Given the description of an element on the screen output the (x, y) to click on. 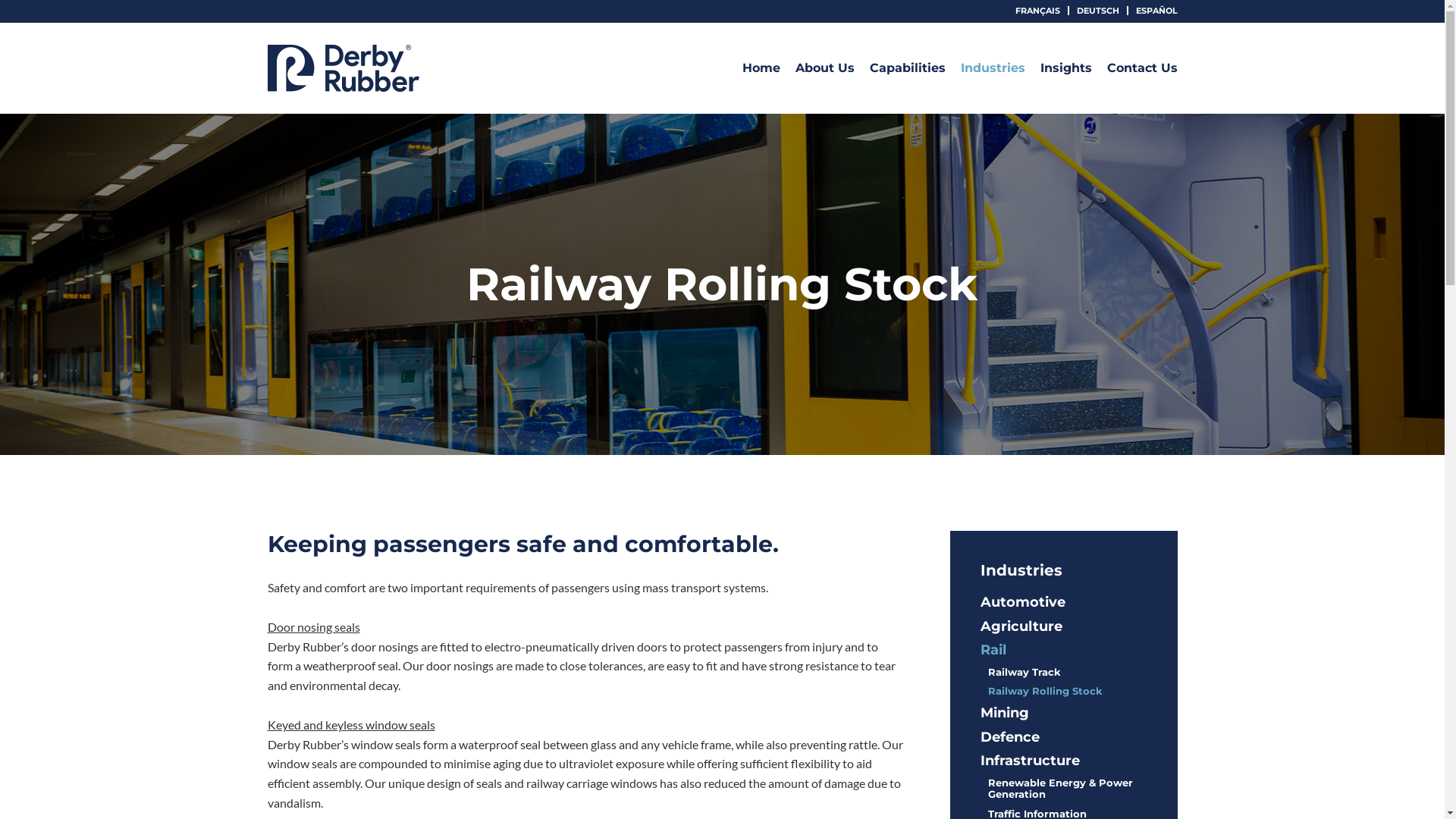
Defence Element type: text (1008, 736)
Contact Us Element type: text (1142, 67)
Insights Element type: text (1066, 67)
Infrastructure Element type: text (1029, 760)
Rail Element type: text (992, 649)
Agriculture Element type: text (1020, 626)
Railway Rolling Stock Element type: text (1044, 690)
Industries Element type: text (992, 67)
Railway Track Element type: text (1023, 671)
Mining Element type: text (1003, 712)
DEUTSCH Element type: text (1097, 9)
Renewable Energy & Power Generation Element type: text (1059, 788)
About Us Element type: text (823, 67)
Automotive Element type: text (1021, 601)
Home Element type: text (760, 67)
Capabilities Element type: text (906, 67)
